Given the description of an element on the screen output the (x, y) to click on. 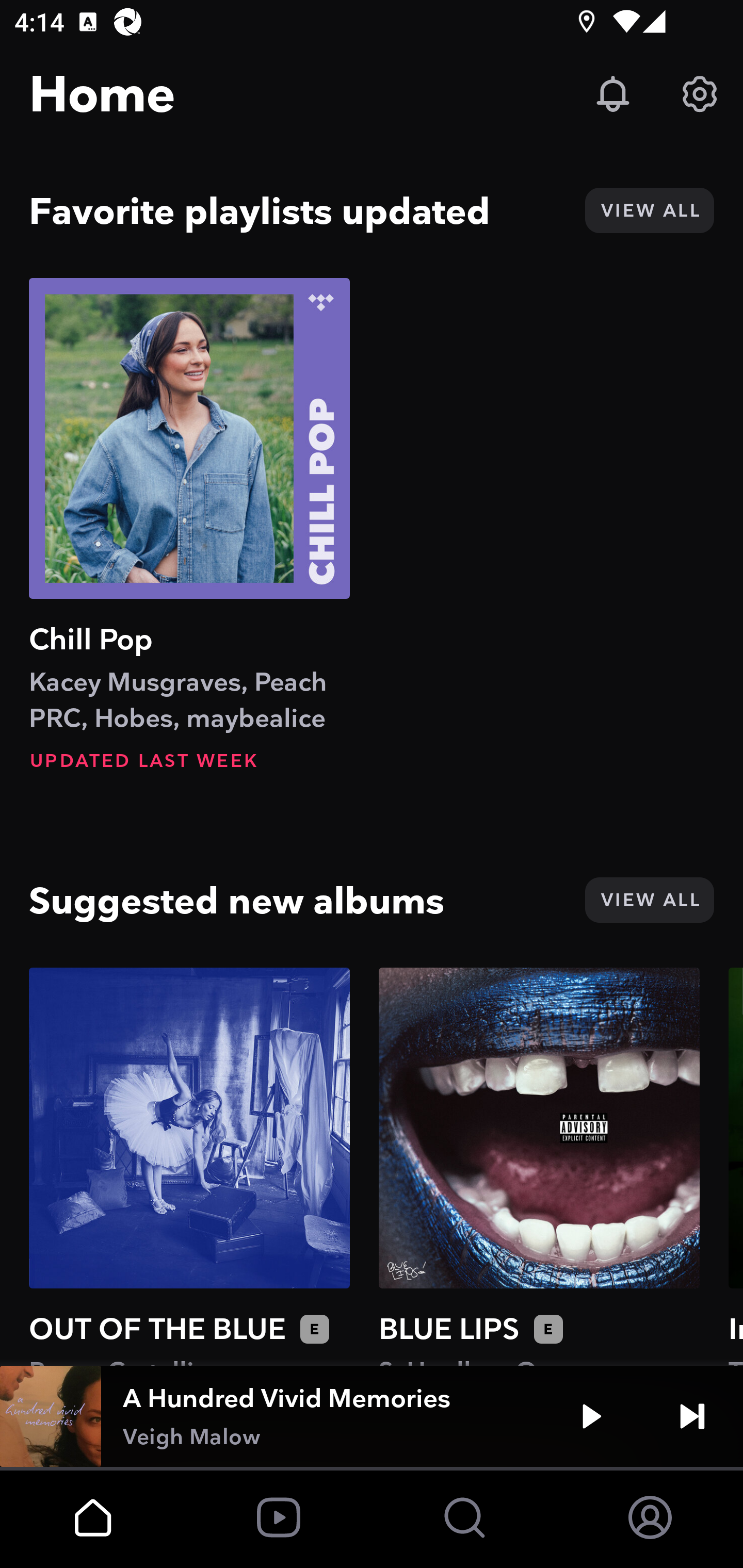
Updates (612, 93)
Settings (699, 93)
VIEW ALL (649, 210)
VIEW ALL (649, 899)
OUT OF THE BLUE Brynn Cartelli (188, 1166)
BLUE LIPS ScHoolboy Q (538, 1166)
A Hundred Vivid Memories Veigh Malow Play (371, 1416)
Play (590, 1416)
